Given the description of an element on the screen output the (x, y) to click on. 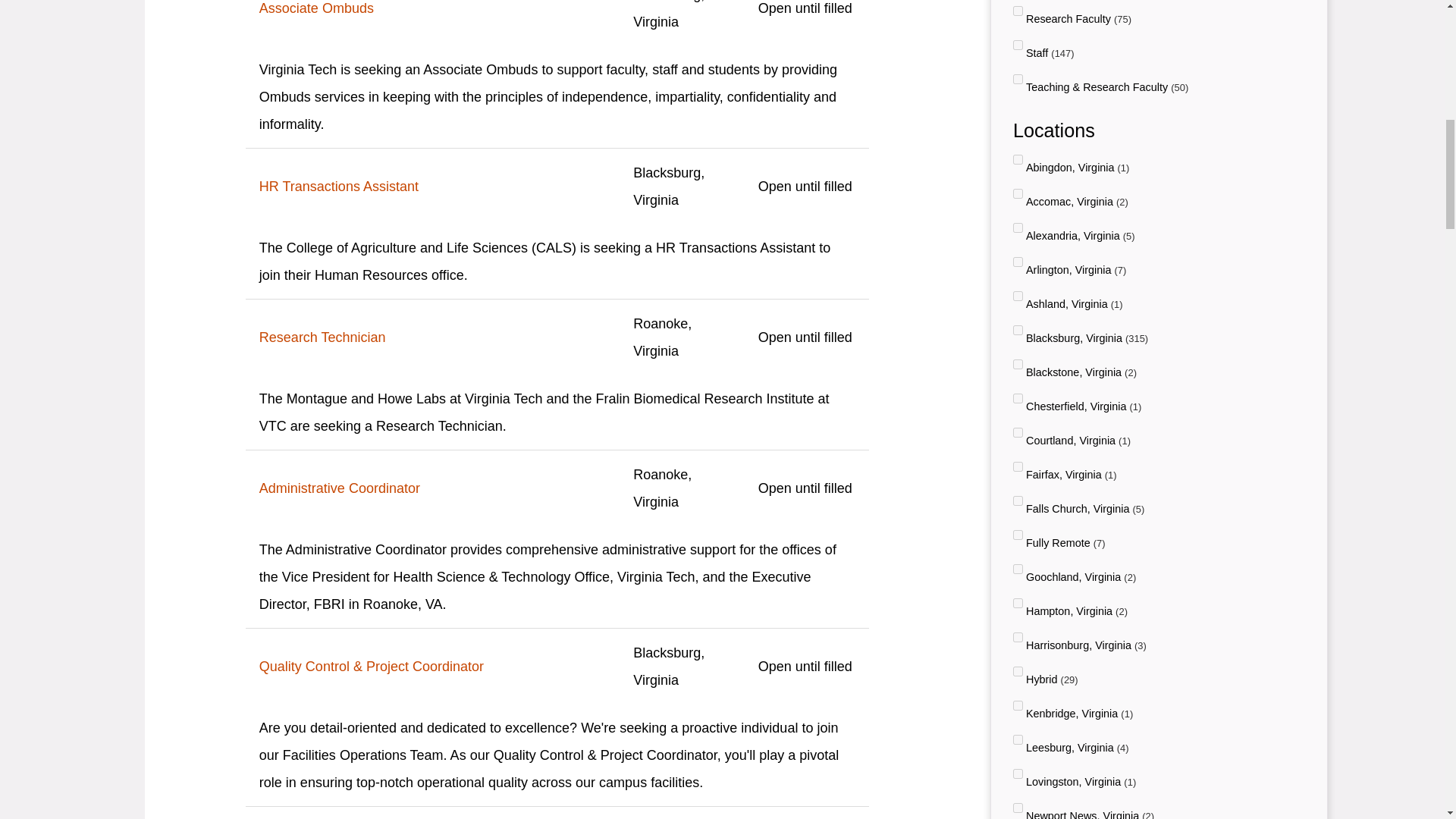
Alexandria Virginia (1018, 227)
Fully Remote (1018, 534)
Research Technician (432, 337)
Fairfax Virginia (1018, 466)
Falls Church Virginia (1018, 501)
Blacksburg Virginia (1018, 329)
Ashland Virginia (1018, 296)
Staff (1018, 44)
Arlington Virginia (1018, 261)
Courtland Virginia (1018, 432)
Blackstone Virginia (1018, 364)
Research Faculty (1018, 10)
Associate Ombuds (432, 11)
Administrative Coordinator (432, 488)
Chesterfield Virginia (1018, 398)
